Given the description of an element on the screen output the (x, y) to click on. 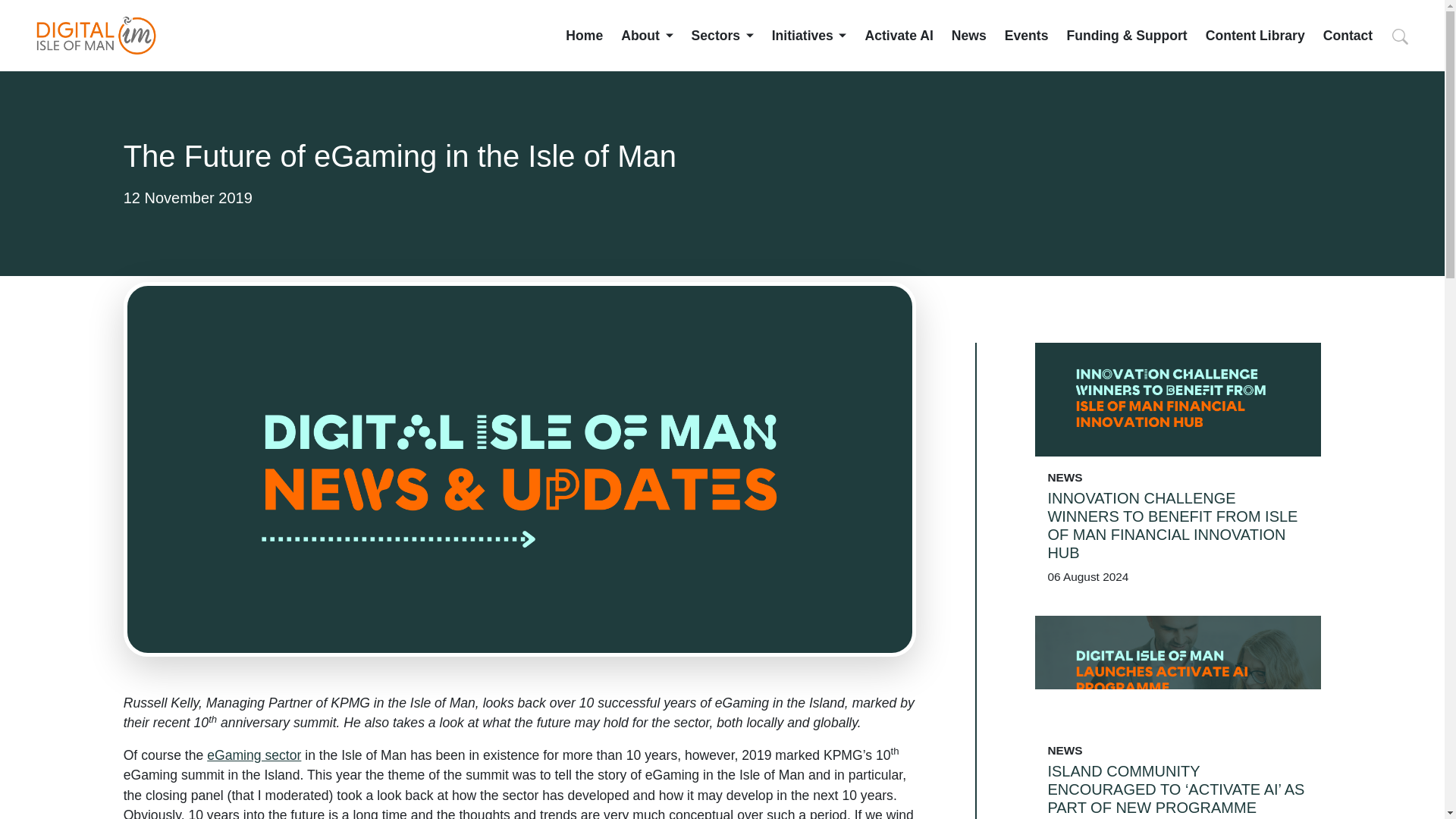
e-Gaming Isle of Man (253, 754)
Contact (1348, 35)
Initiatives (809, 35)
Sectors (722, 35)
About (646, 35)
Content Library (1254, 35)
Events (1026, 35)
eGaming sector (253, 754)
Activate AI (898, 35)
